Given the description of an element on the screen output the (x, y) to click on. 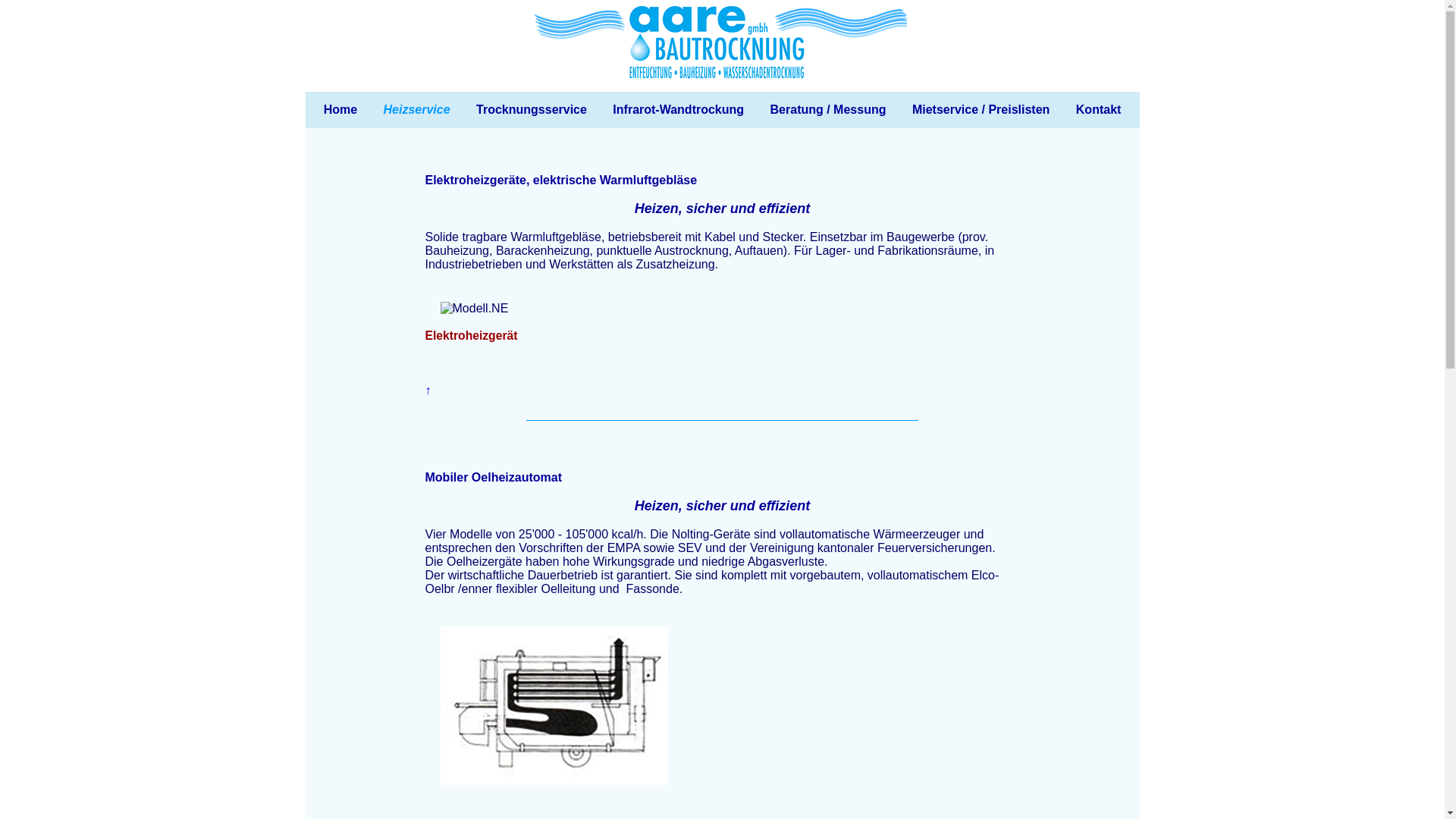
Mobiler Oelheizautomat Element type: text (492, 476)
Infrarot-Wandtrockung Element type: text (678, 109)
Home Element type: text (340, 109)
Kontakt Element type: text (1098, 109)
Trocknungsservice Element type: text (531, 109)
Beratung / Messung Element type: text (828, 109)
Mietservice / Preislisten Element type: text (980, 109)
Heizservice Element type: text (416, 109)
